Given the description of an element on the screen output the (x, y) to click on. 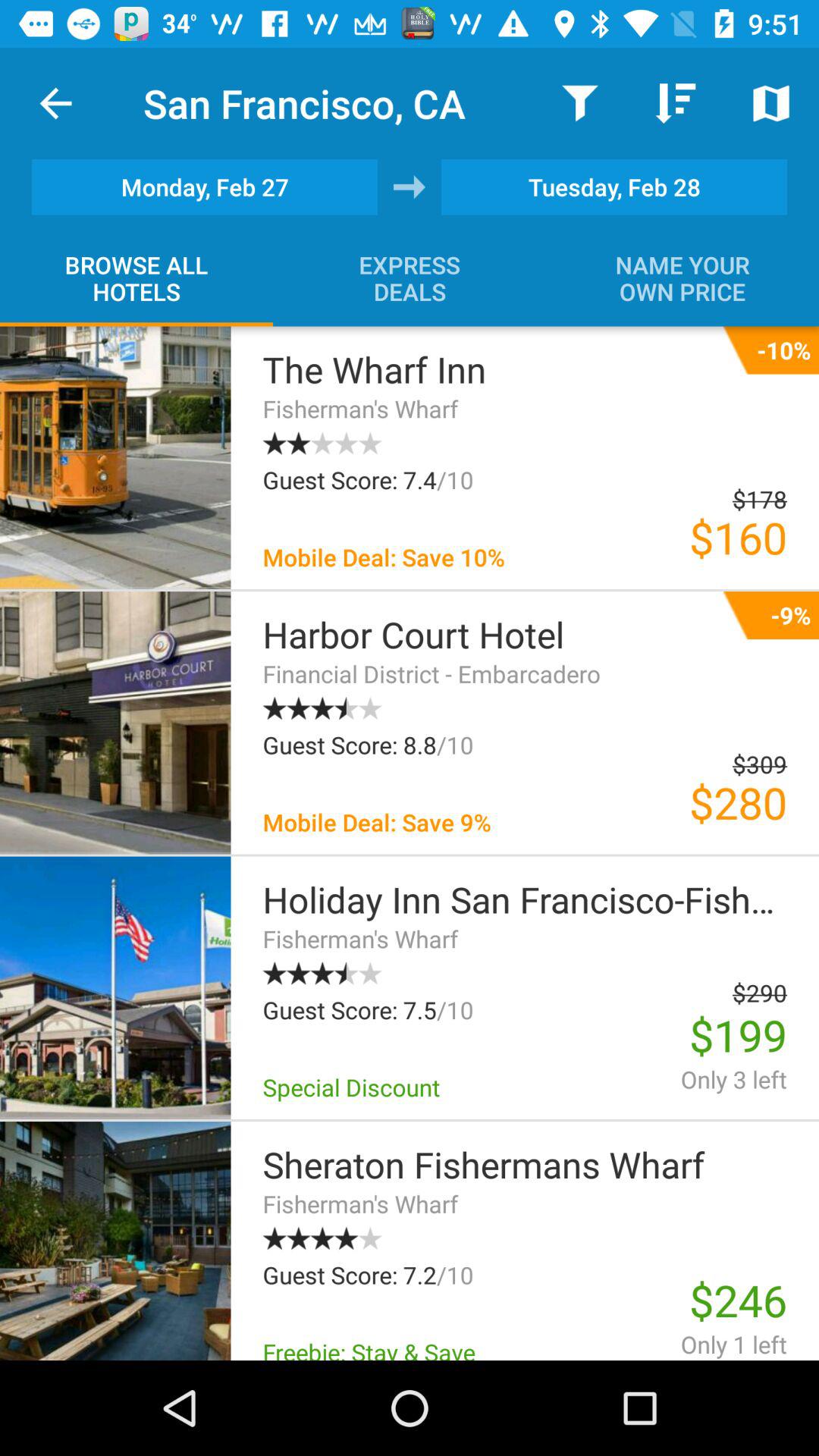
turn off the icon above the monday, feb 27 (55, 103)
